Given the description of an element on the screen output the (x, y) to click on. 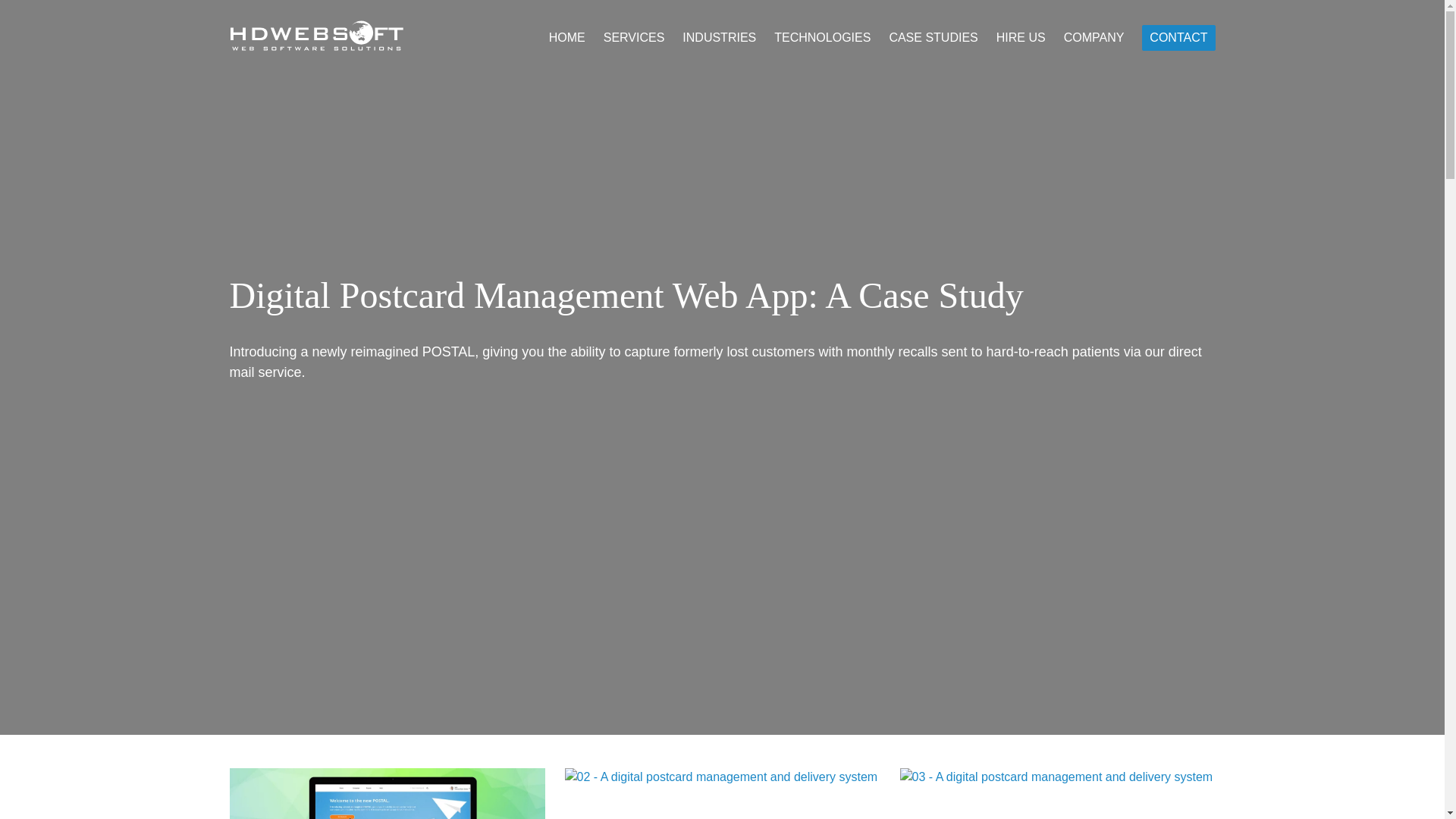
SERVICES (633, 38)
TECHNOLOGIES (822, 38)
INDUSTRIES (718, 38)
